Given the description of an element on the screen output the (x, y) to click on. 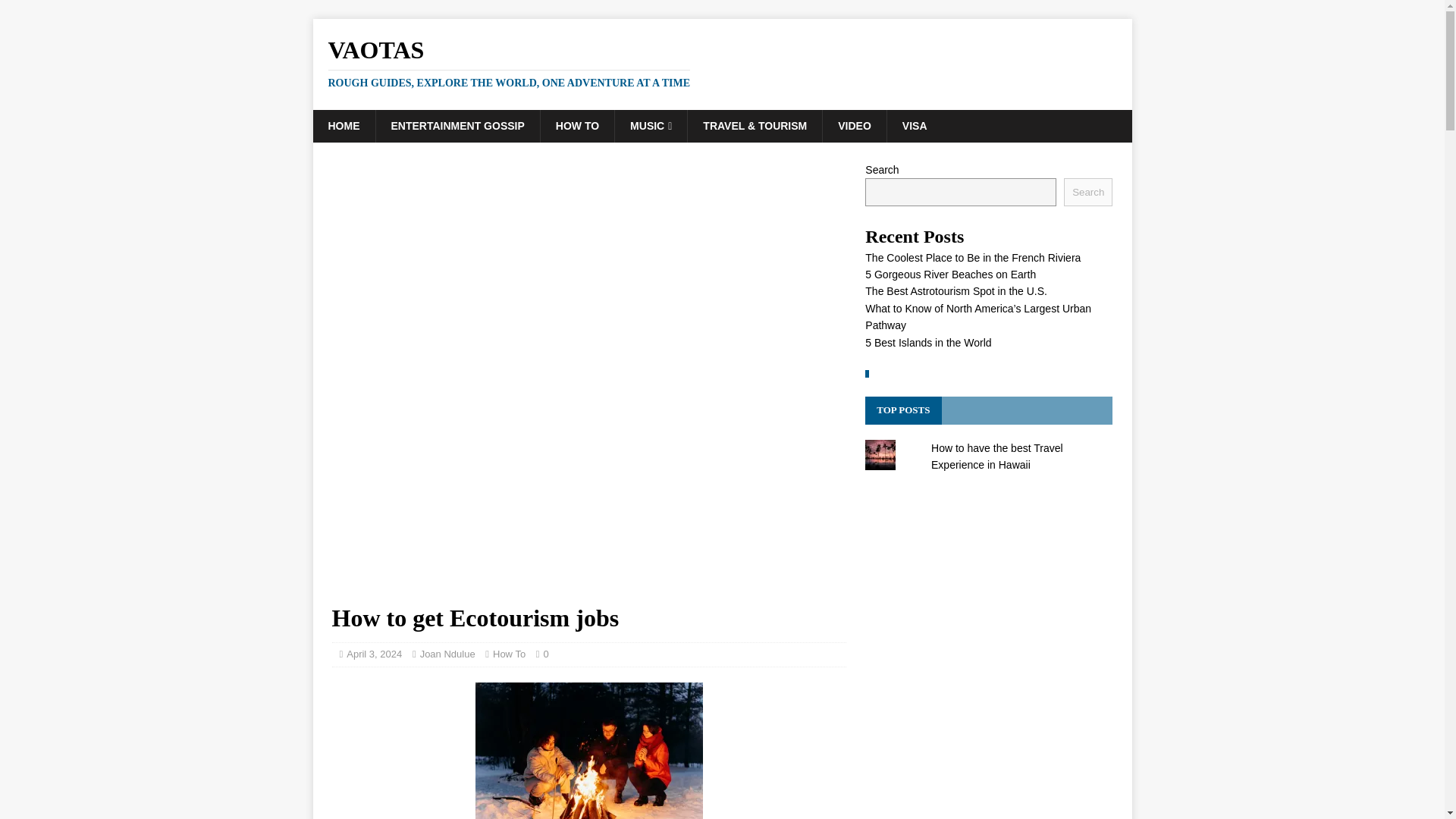
VISA (914, 125)
MUSIC (650, 125)
How To (509, 654)
HOME (343, 125)
HOW TO (577, 125)
April 3, 2024 (373, 654)
Advertisement (588, 486)
The Coolest Place to Be in the French Riviera (972, 257)
5 Gorgeous River Beaches on Earth (949, 274)
